Given the description of an element on the screen output the (x, y) to click on. 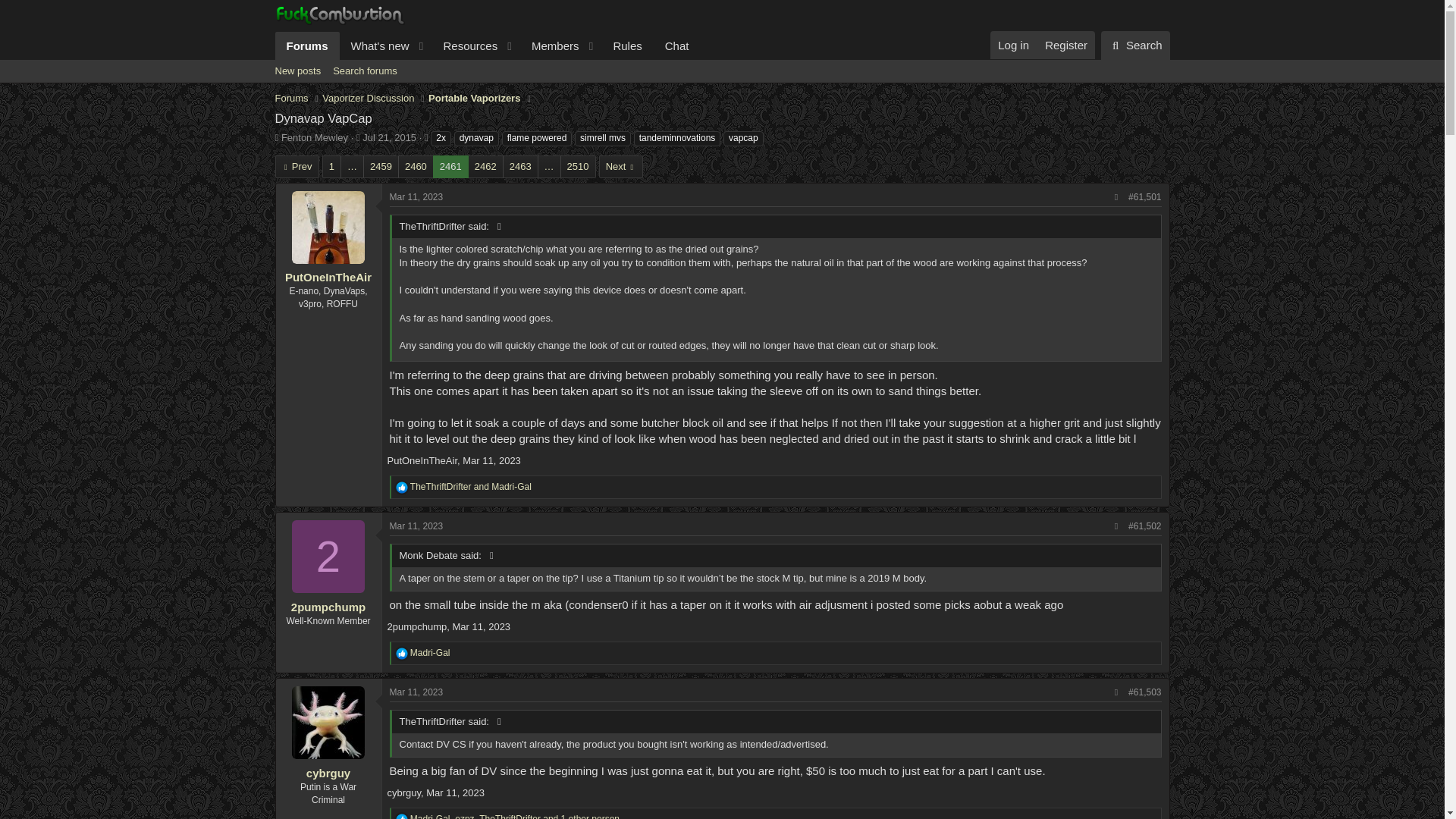
Forums (486, 45)
Mar 11, 2023 at 6:21 PM (307, 45)
Resources (417, 196)
What's new (486, 45)
Search (464, 45)
Rules (374, 45)
Like (1135, 45)
Register (626, 45)
Mar 11, 2023 at 8:07 PM (401, 653)
Mar 11, 2023 at 6:27 PM (1065, 44)
New posts (417, 692)
Forums (417, 525)
Search (296, 70)
